Given the description of an element on the screen output the (x, y) to click on. 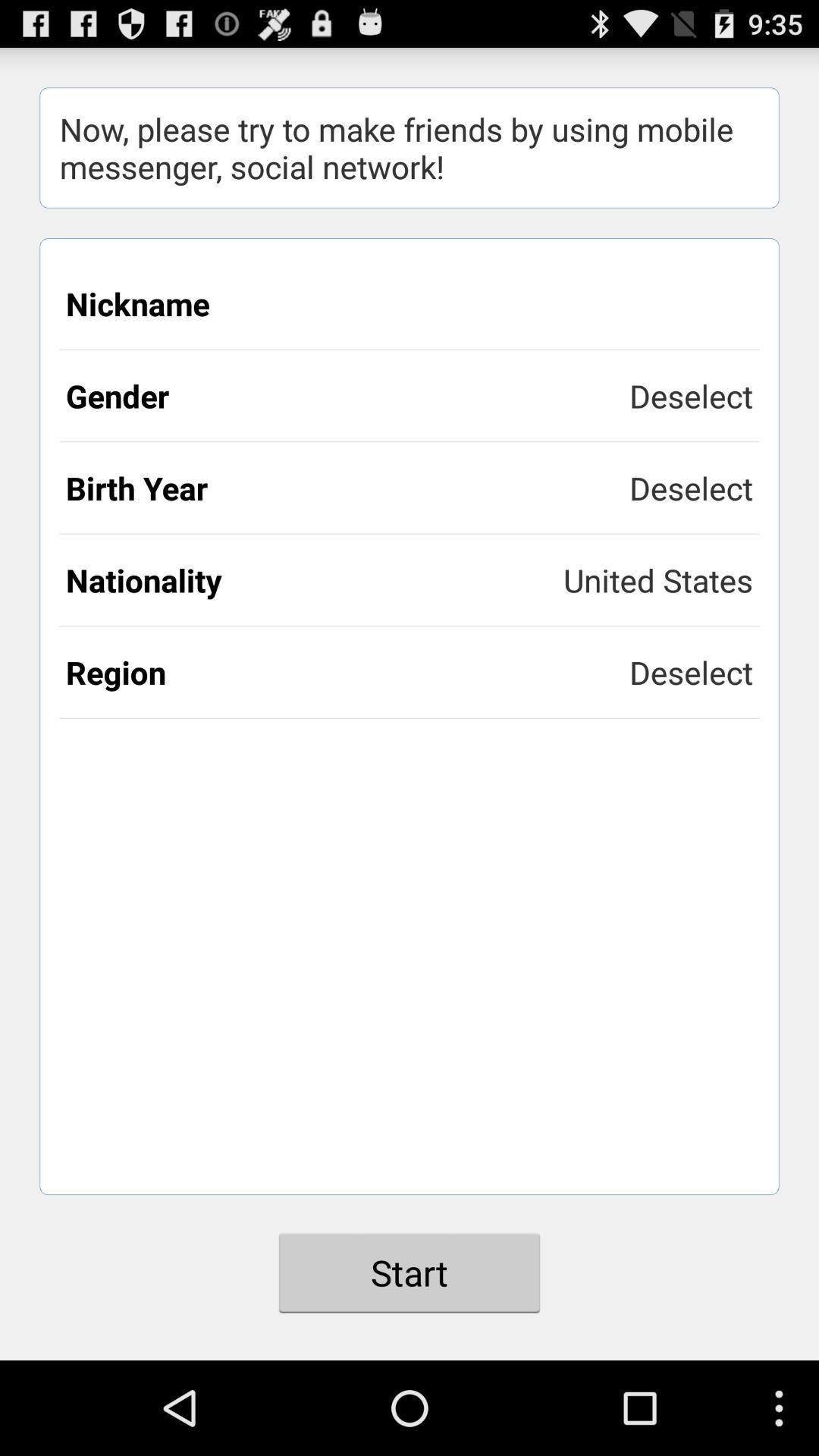
press icon to the right of the nationality icon (658, 579)
